Given the description of an element on the screen output the (x, y) to click on. 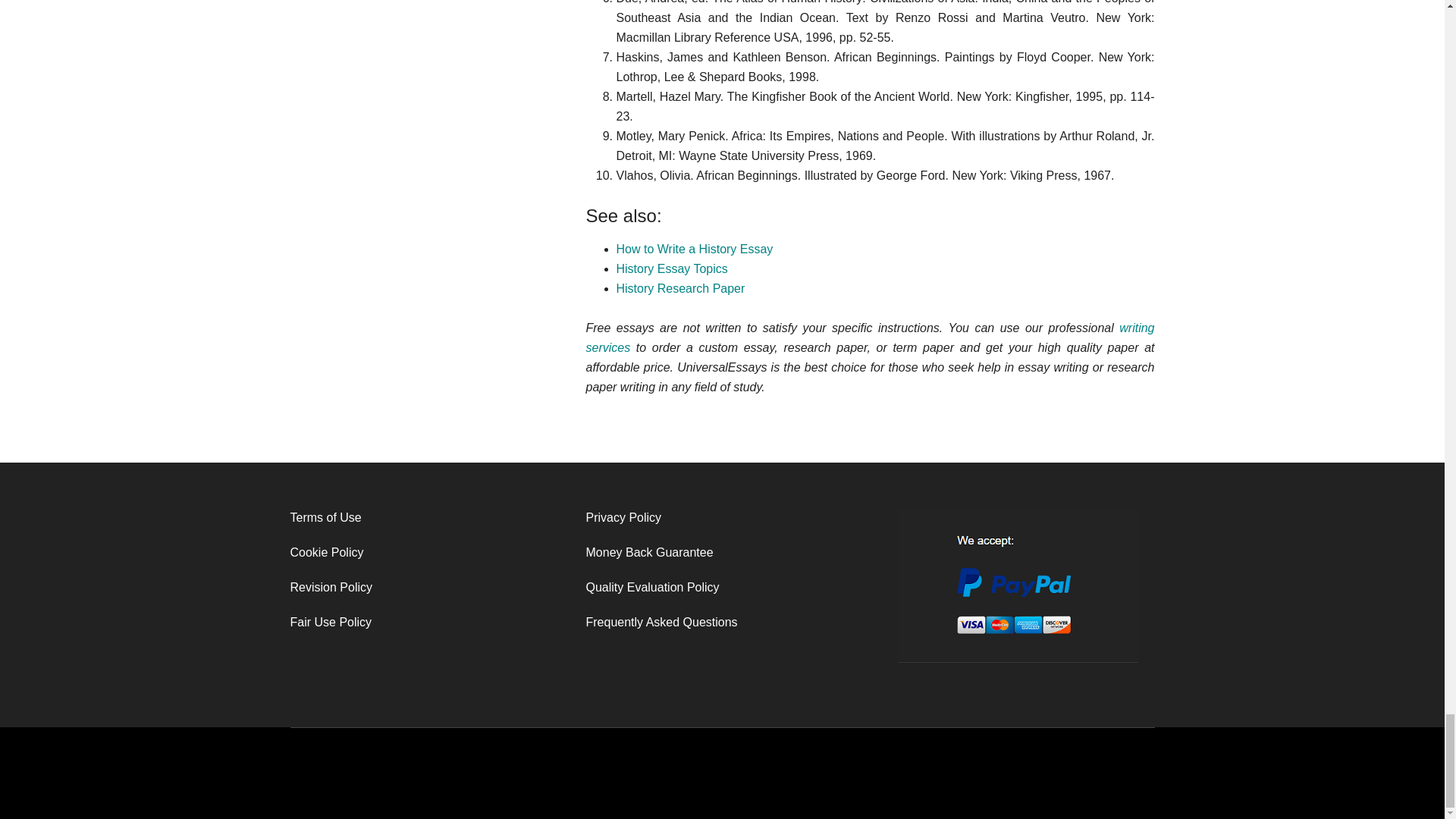
History Research Paper (679, 287)
How to Write a History Essay (694, 248)
writing services (869, 337)
History Essay Topics (670, 268)
